Given the description of an element on the screen output the (x, y) to click on. 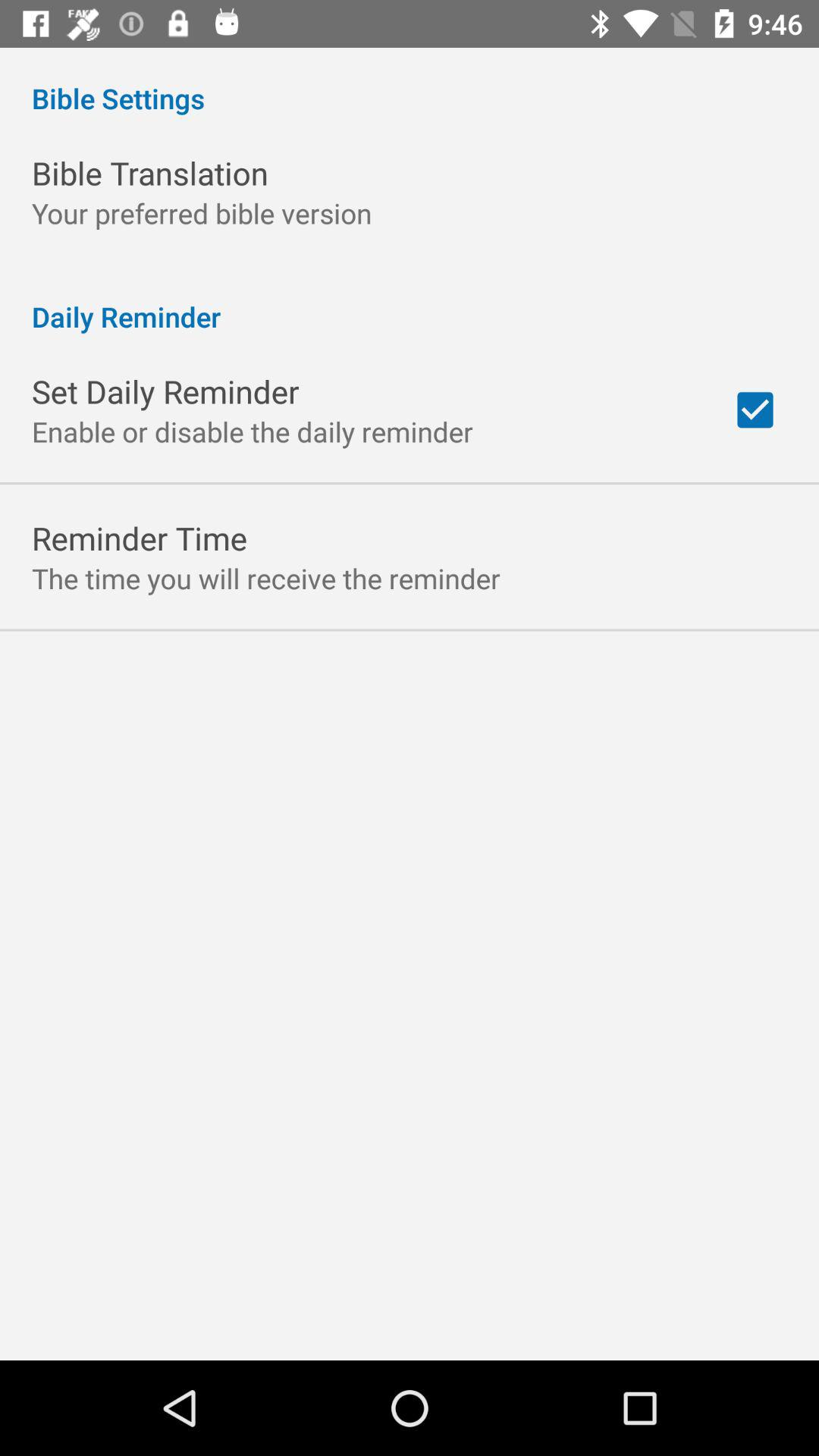
tap app below the set daily reminder app (252, 431)
